Given the description of an element on the screen output the (x, y) to click on. 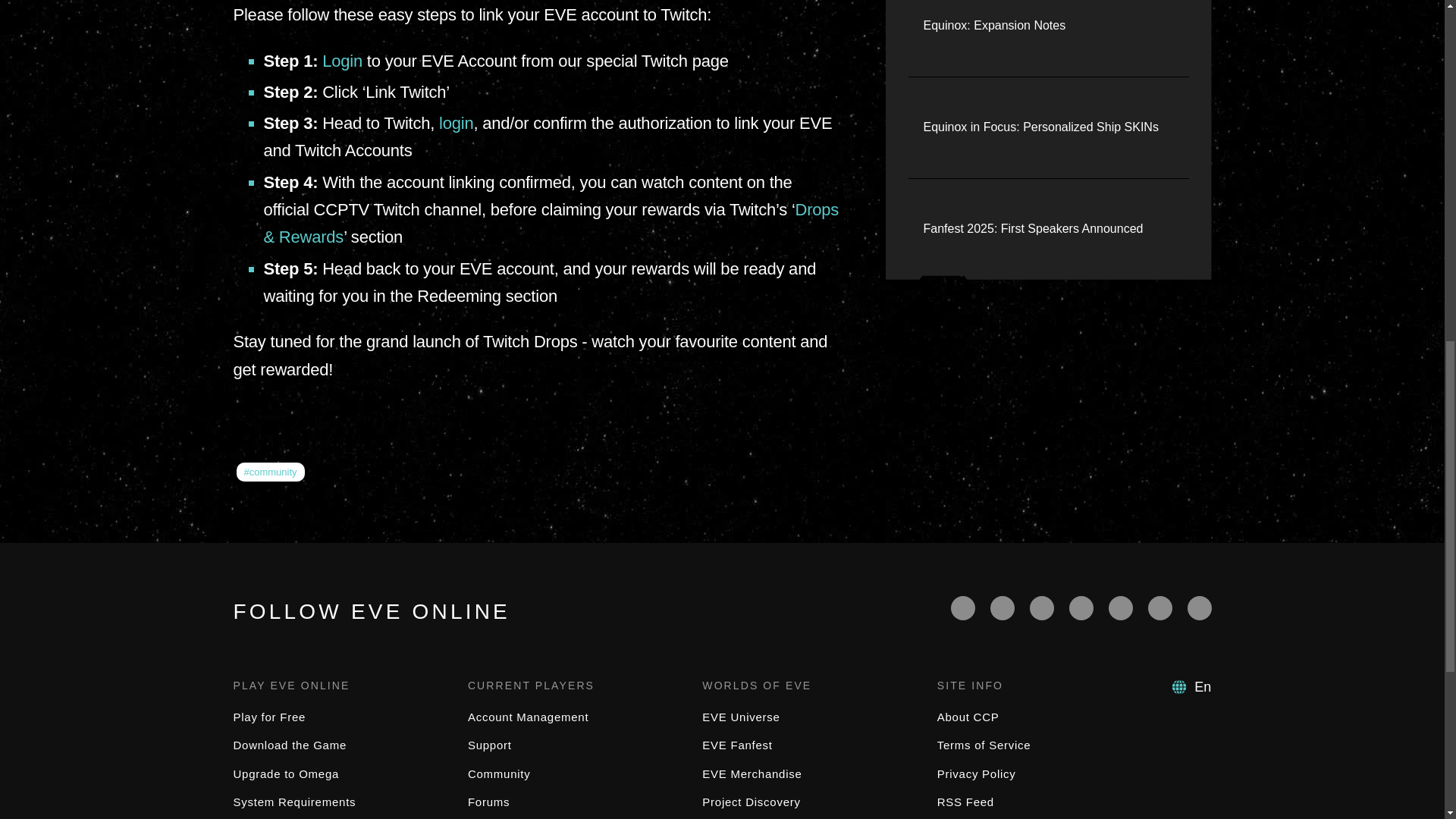
Upgrade to Omega (285, 773)
Fanfest 2025: First Speakers Announced (1032, 229)
Instagram (1160, 607)
Facebook (962, 607)
Twitch (1080, 607)
System Requirements (294, 801)
Twitter (1002, 607)
Discord (1120, 607)
VK (1199, 607)
Download the Game (289, 744)
Equinox in Focus: Personalized Ship SKINs (1040, 126)
Play for Free (268, 716)
YouTube (1041, 607)
Equinox: Expansion Notes (994, 25)
